Given the description of an element on the screen output the (x, y) to click on. 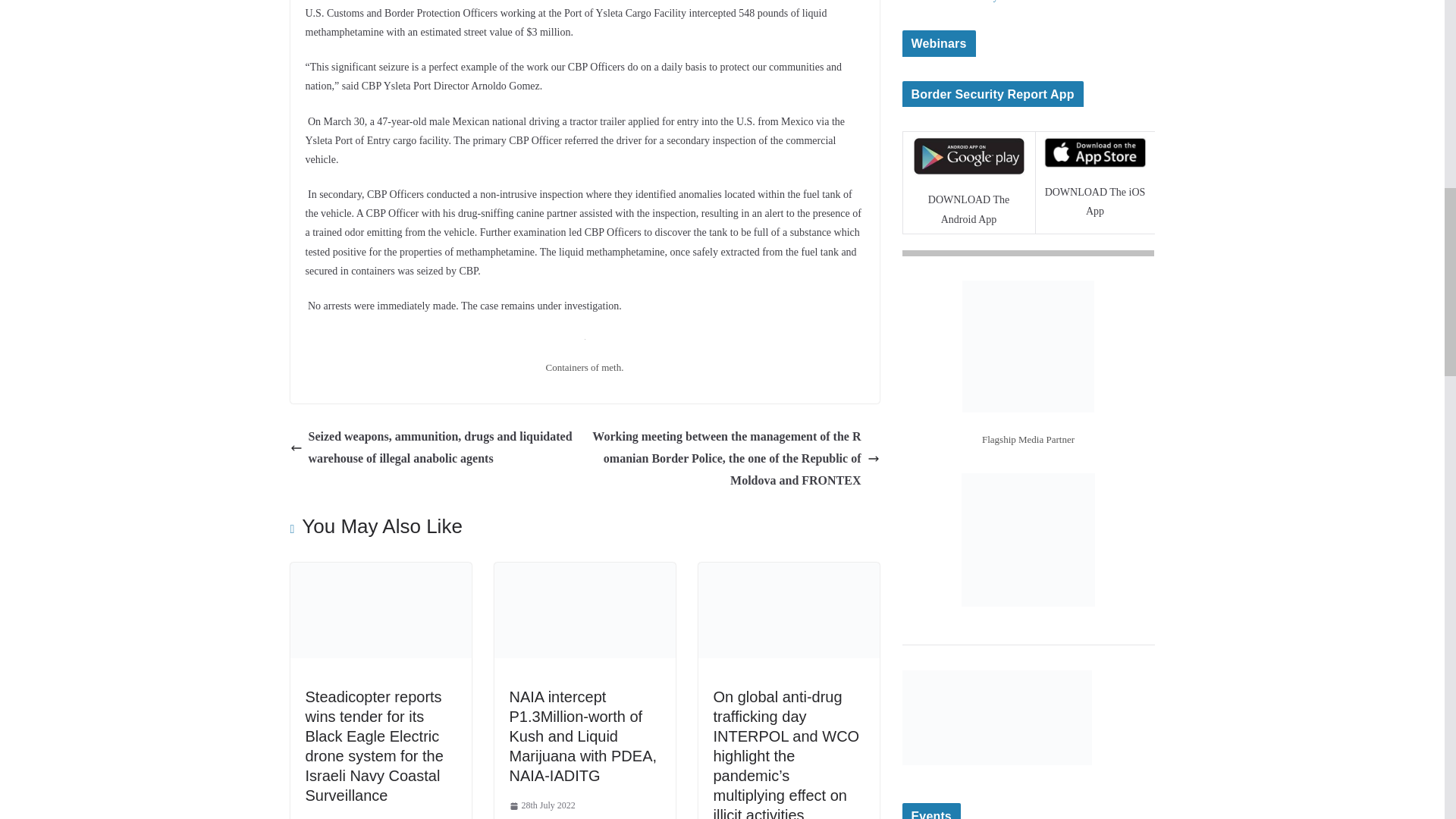
29th July 2022 (337, 818)
2:18 pm (337, 818)
28th July 2022 (542, 805)
12:12 pm (542, 805)
